Given the description of an element on the screen output the (x, y) to click on. 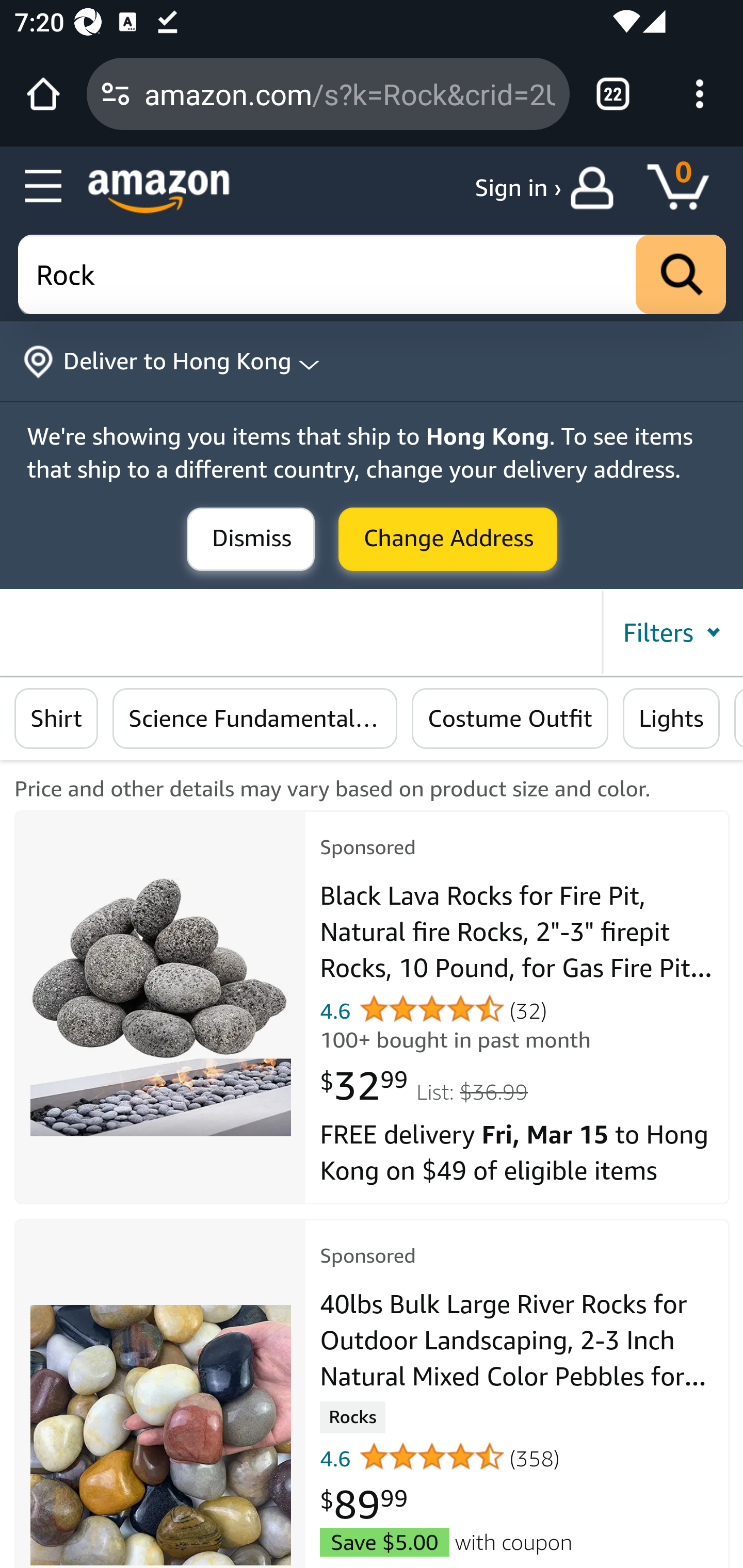
Open the home page (43, 93)
Connection is secure (115, 93)
Switch or close tabs (612, 93)
Customize and control Google Chrome (699, 93)
Open Menu (44, 187)
Sign in › (518, 188)
your account (596, 188)
Cart 0 (687, 188)
Amazon (158, 191)
Rock (372, 275)
Go (681, 275)
Submit (250, 539)
Submit (447, 539)
Filters (671, 632)
Shirt (56, 718)
Science Fundamentals Kit (255, 718)
Costume Outfit (510, 718)
Lights (670, 718)
